Given the description of an element on the screen output the (x, y) to click on. 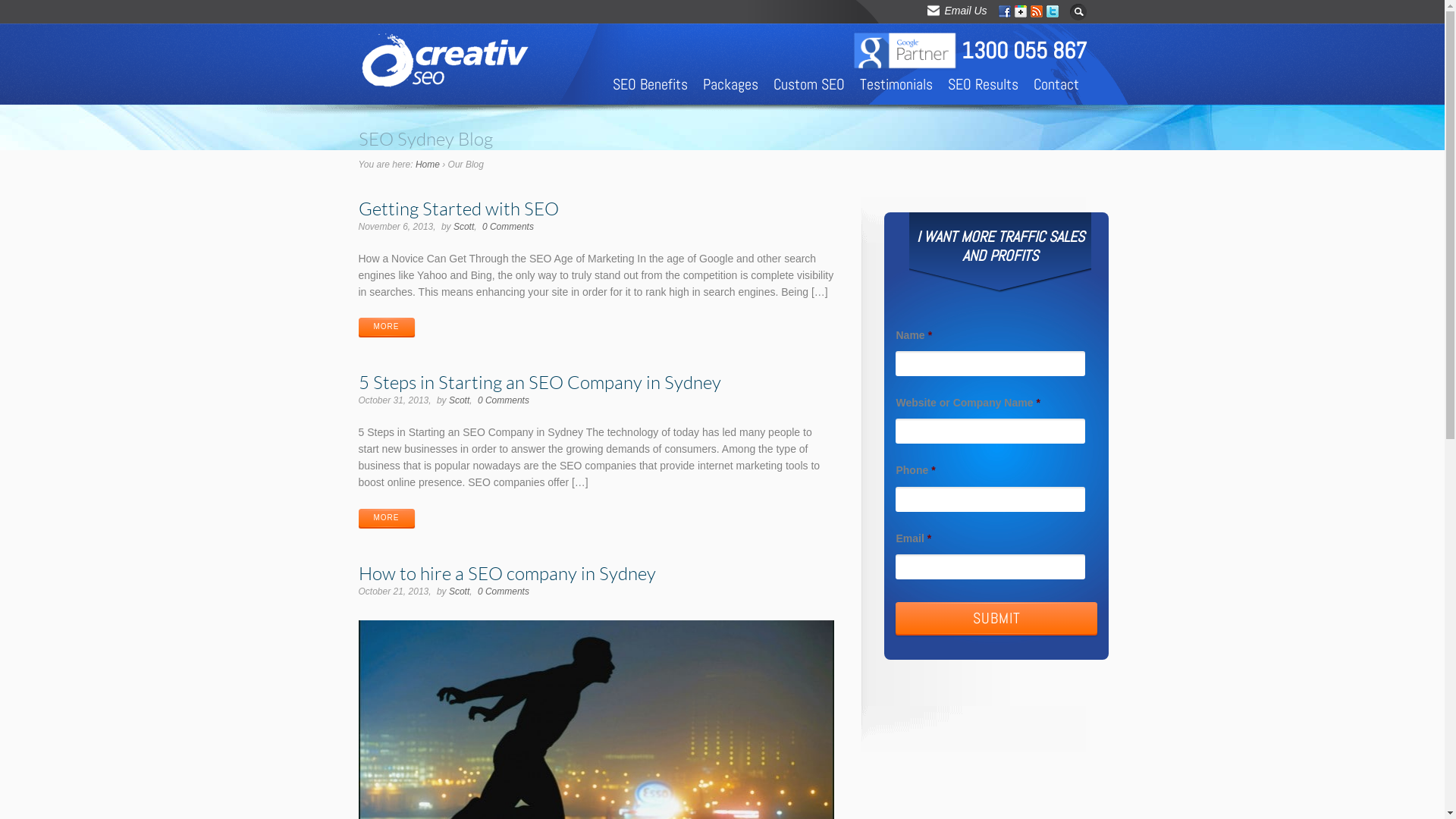
How to hire a SEO company in Sydney Element type: text (506, 572)
MORE Element type: text (385, 519)
MORE Element type: text (385, 328)
Packages Element type: text (729, 83)
0 Comments Element type: text (503, 400)
Scott Element type: text (463, 226)
5 Steps in Starting an SEO Company in Sydney Element type: text (538, 381)
Go back to the homepage Element type: hover (446, 87)
Getting Started with SEO Element type: text (457, 208)
Scott Element type: text (458, 400)
0 Comments Element type: text (507, 226)
SEO Results Element type: text (983, 83)
1300 055 867 Element type: text (1023, 51)
Submit Element type: text (20, 7)
SUBMIT Element type: text (996, 619)
Home Element type: text (427, 164)
Scott Element type: text (458, 591)
Contact Element type: text (1055, 83)
SEO Benefits Element type: text (650, 83)
Email Us Element type: text (958, 10)
Custom SEO Element type: text (808, 83)
0 Comments Element type: text (503, 591)
Testimonials Element type: text (896, 83)
